Given the description of an element on the screen output the (x, y) to click on. 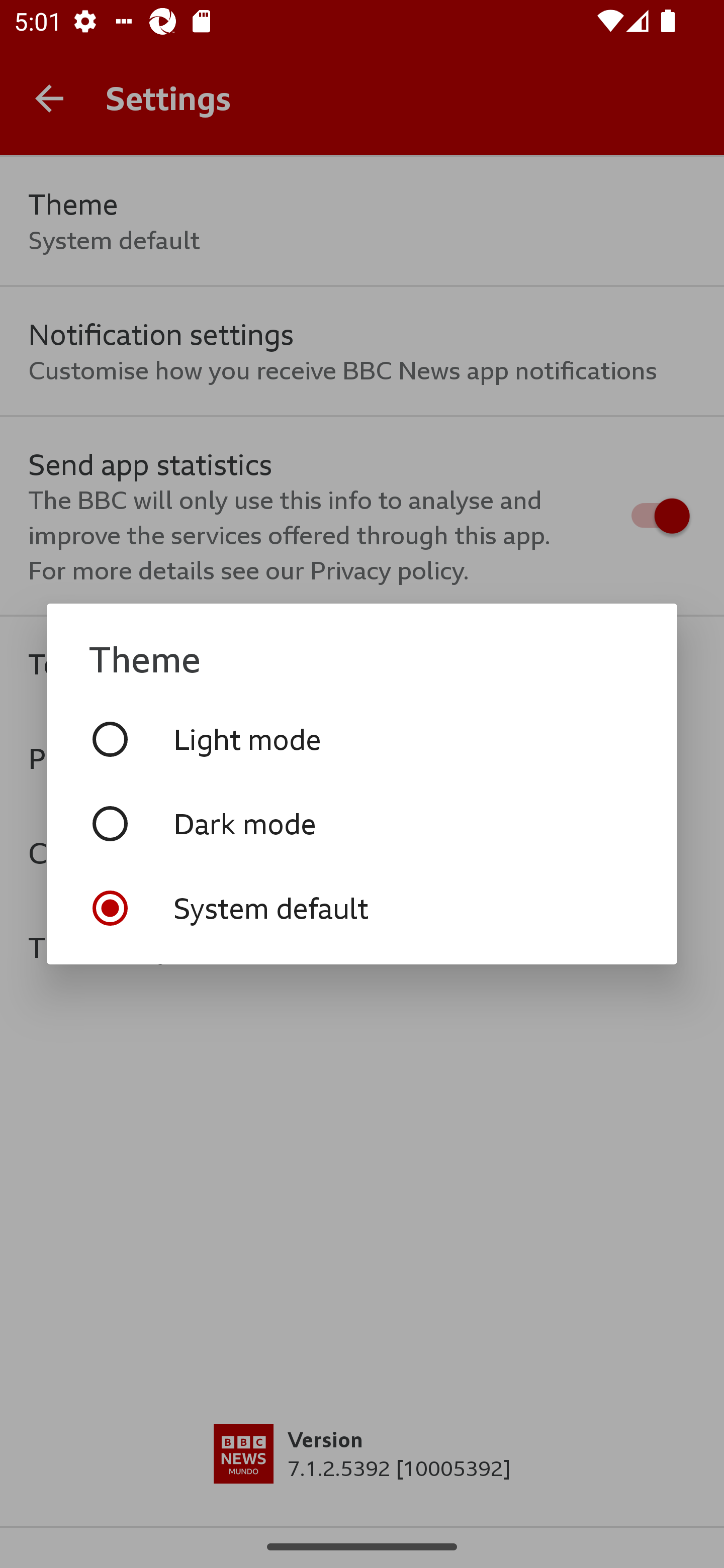
Light mode (361, 738)
Dark mode (361, 822)
System default (361, 907)
